Given the description of an element on the screen output the (x, y) to click on. 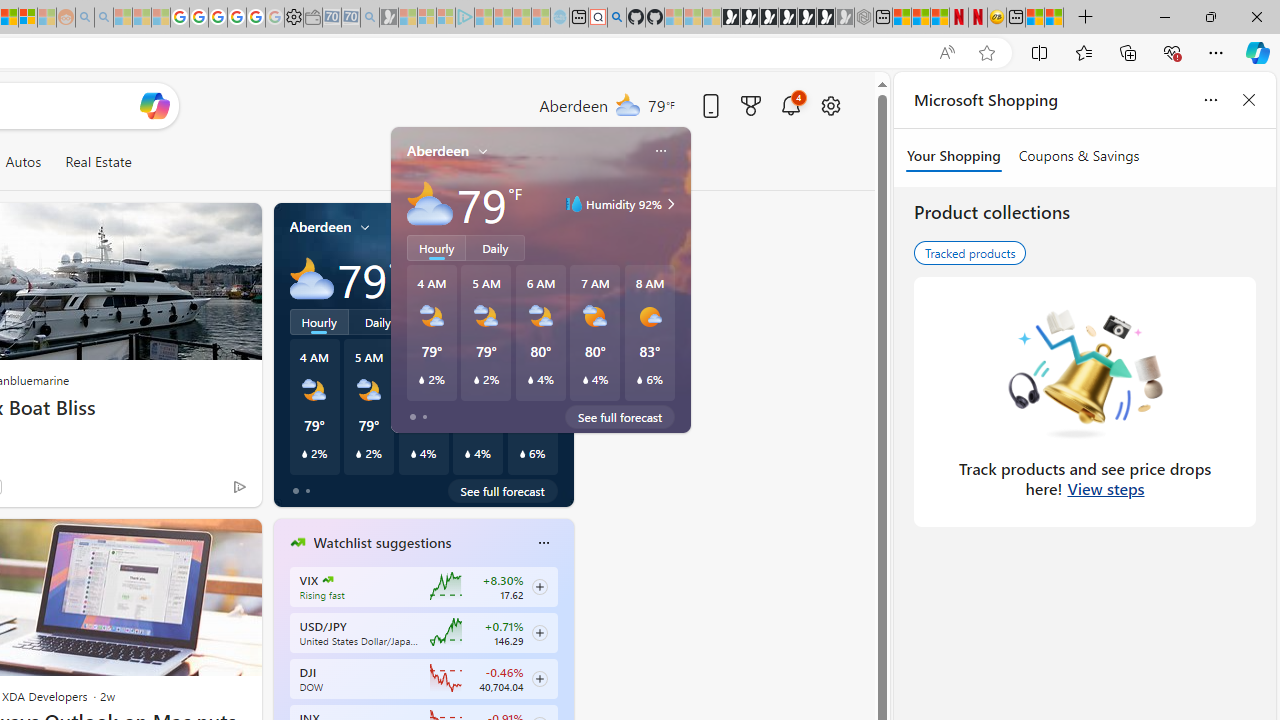
CBOE Market Volatility Index (328, 579)
Daily (378, 321)
next (563, 670)
tab-1 (306, 490)
Hide this story (201, 542)
